Given the description of an element on the screen output the (x, y) to click on. 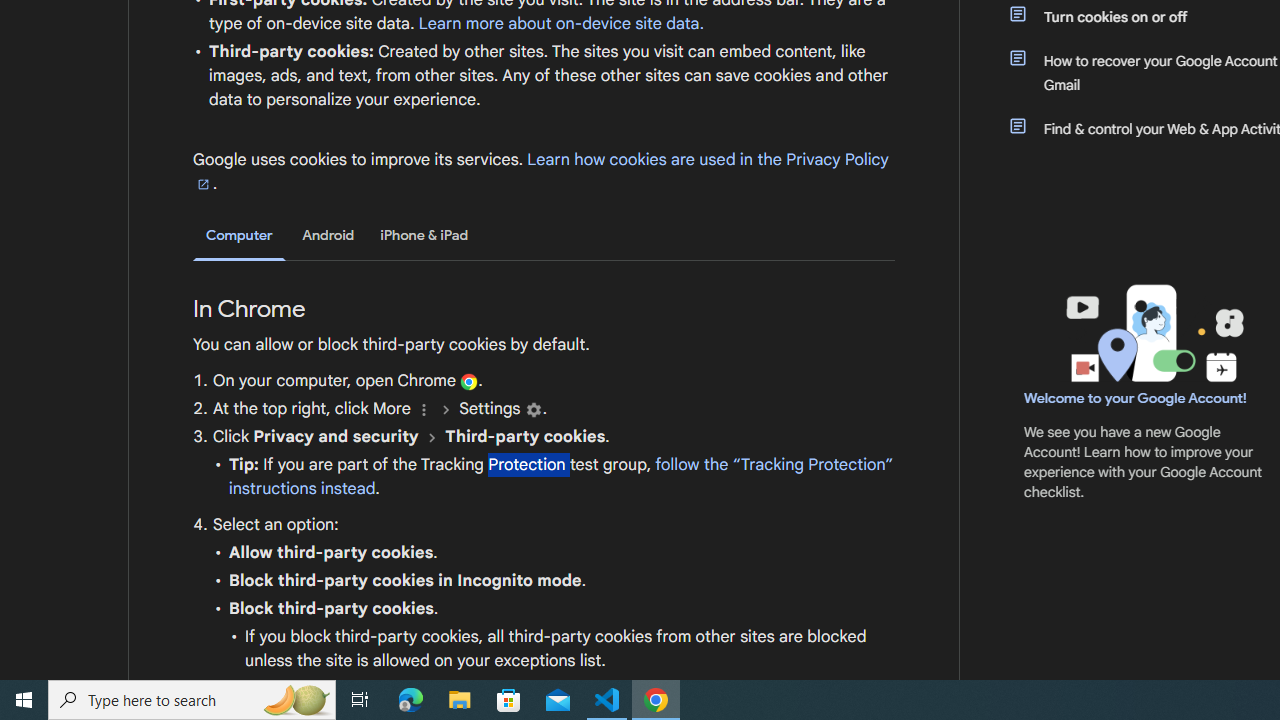
Learn how cookies are used in the Privacy Policy (541, 171)
and then (431, 437)
Computer (239, 235)
More (423, 409)
Welcome to your Google Account! (1135, 397)
Android (328, 235)
Learning Center home page image (1152, 333)
Learn more about on-device site data. (561, 23)
iPhone & iPad (424, 235)
